Given the description of an element on the screen output the (x, y) to click on. 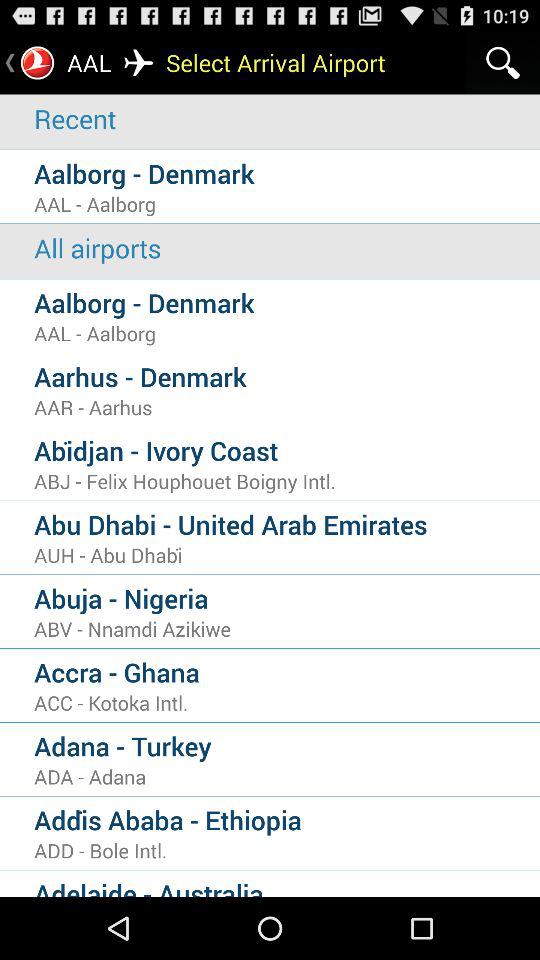
launch the item above adelaide - australia item (287, 850)
